Given the description of an element on the screen output the (x, y) to click on. 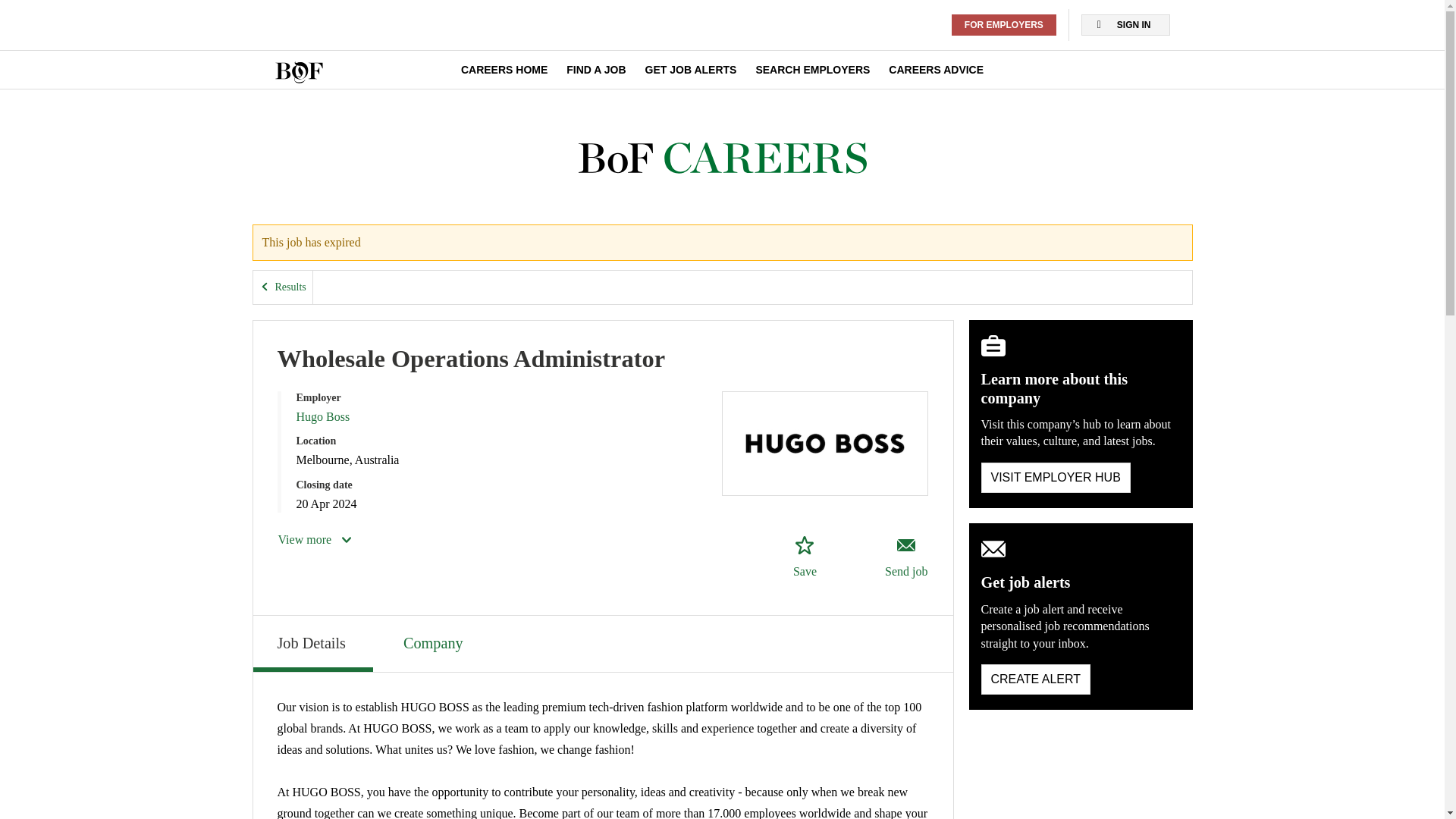
FIND A JOB (596, 69)
SEARCH EMPLOYERS (812, 69)
Company (434, 641)
Job Details (312, 643)
View more (315, 539)
BoF Careers (722, 158)
Results (283, 287)
CAREERS ADVICE (936, 69)
Hugo Boss (322, 416)
CREATE ALERT (1035, 679)
